Given the description of an element on the screen output the (x, y) to click on. 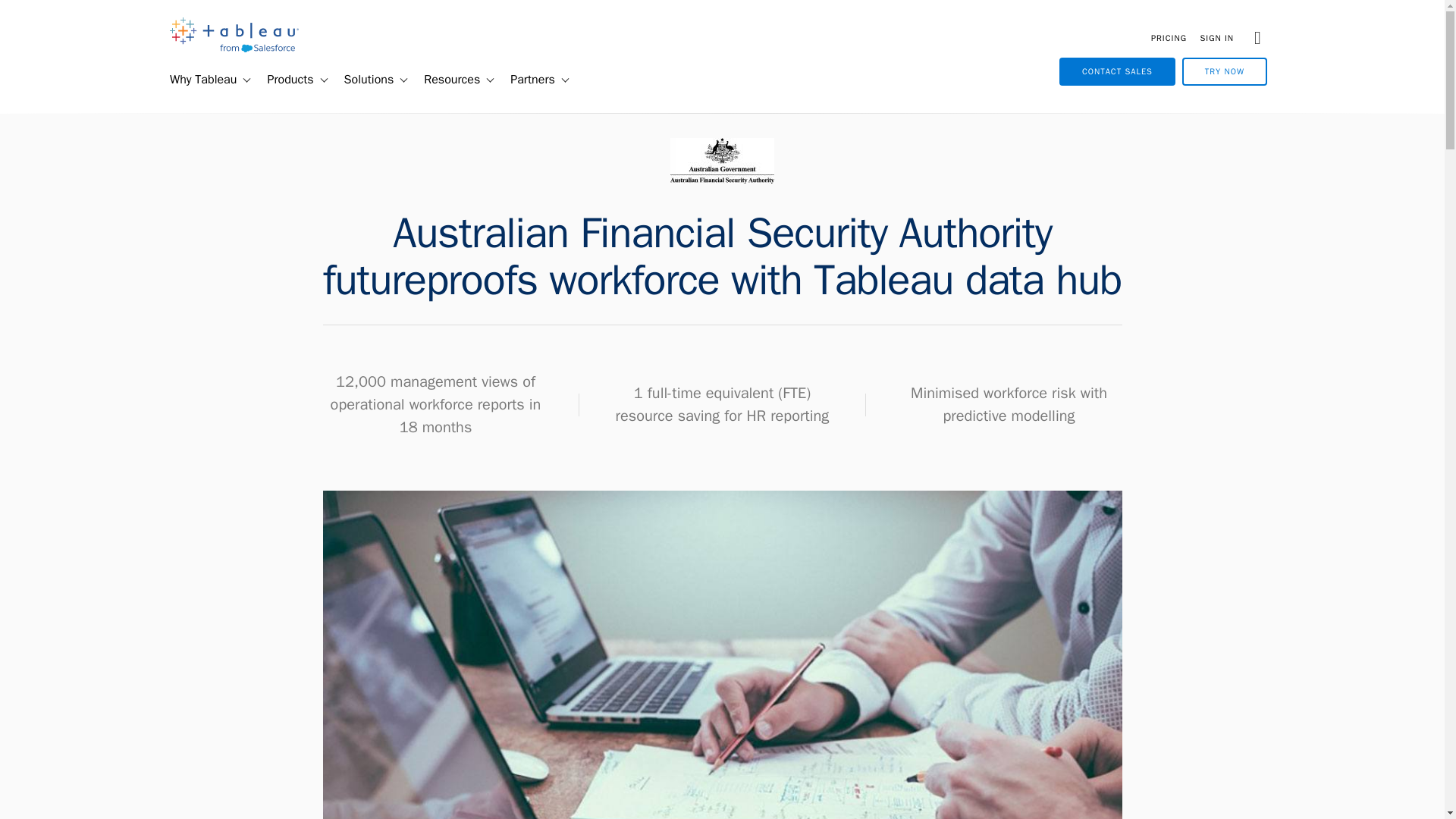
Products (283, 79)
Solutions (362, 79)
Return to the Tableau Software home page (234, 48)
Why Tableau (196, 79)
